Given the description of an element on the screen output the (x, y) to click on. 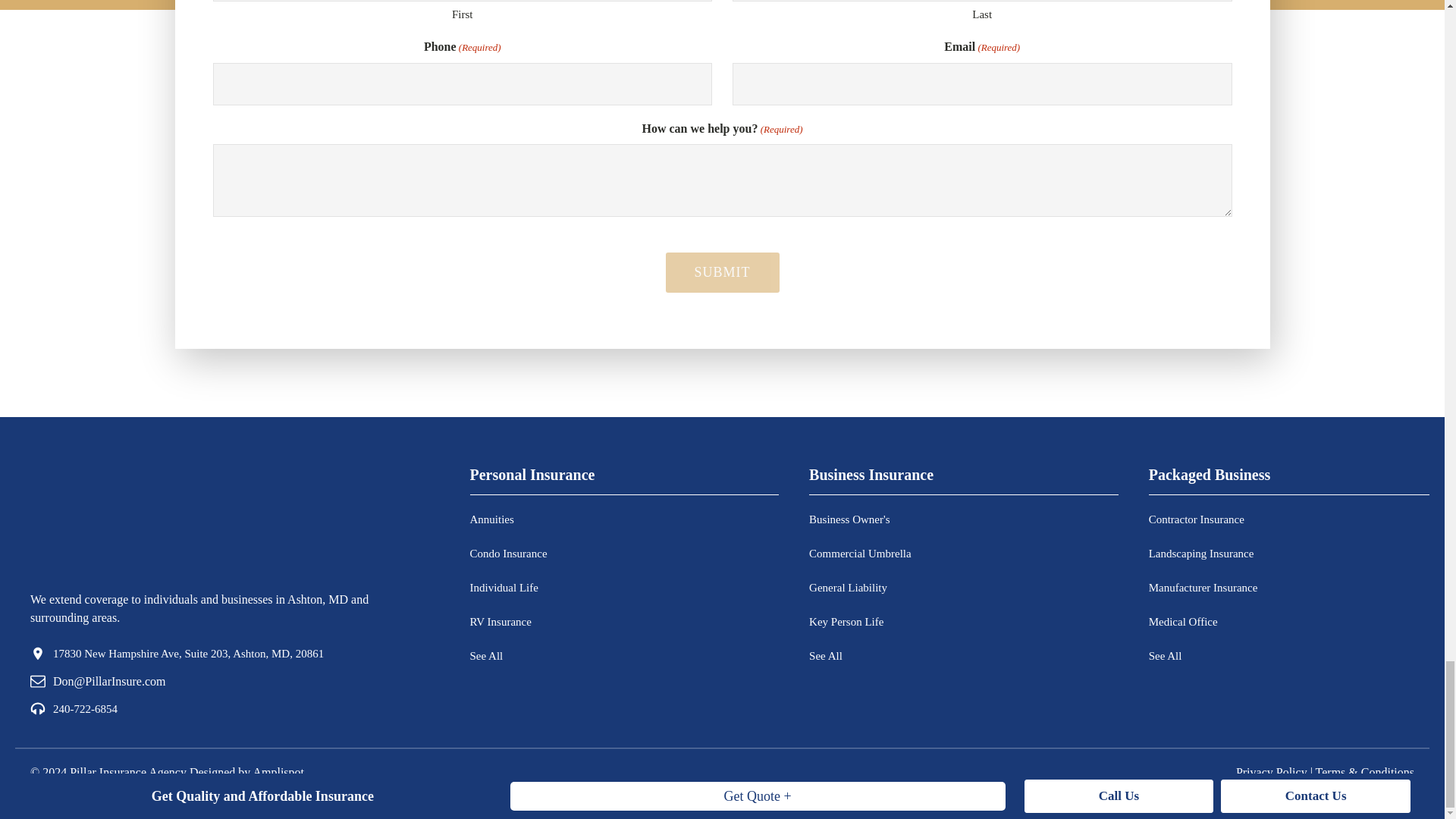
Business Owner's (859, 519)
Annuities (508, 519)
Individual Life (508, 587)
See All (508, 656)
Submit (721, 272)
Condo Insurance (508, 553)
RV Insurance (508, 622)
Submit (721, 272)
